Given the description of an element on the screen output the (x, y) to click on. 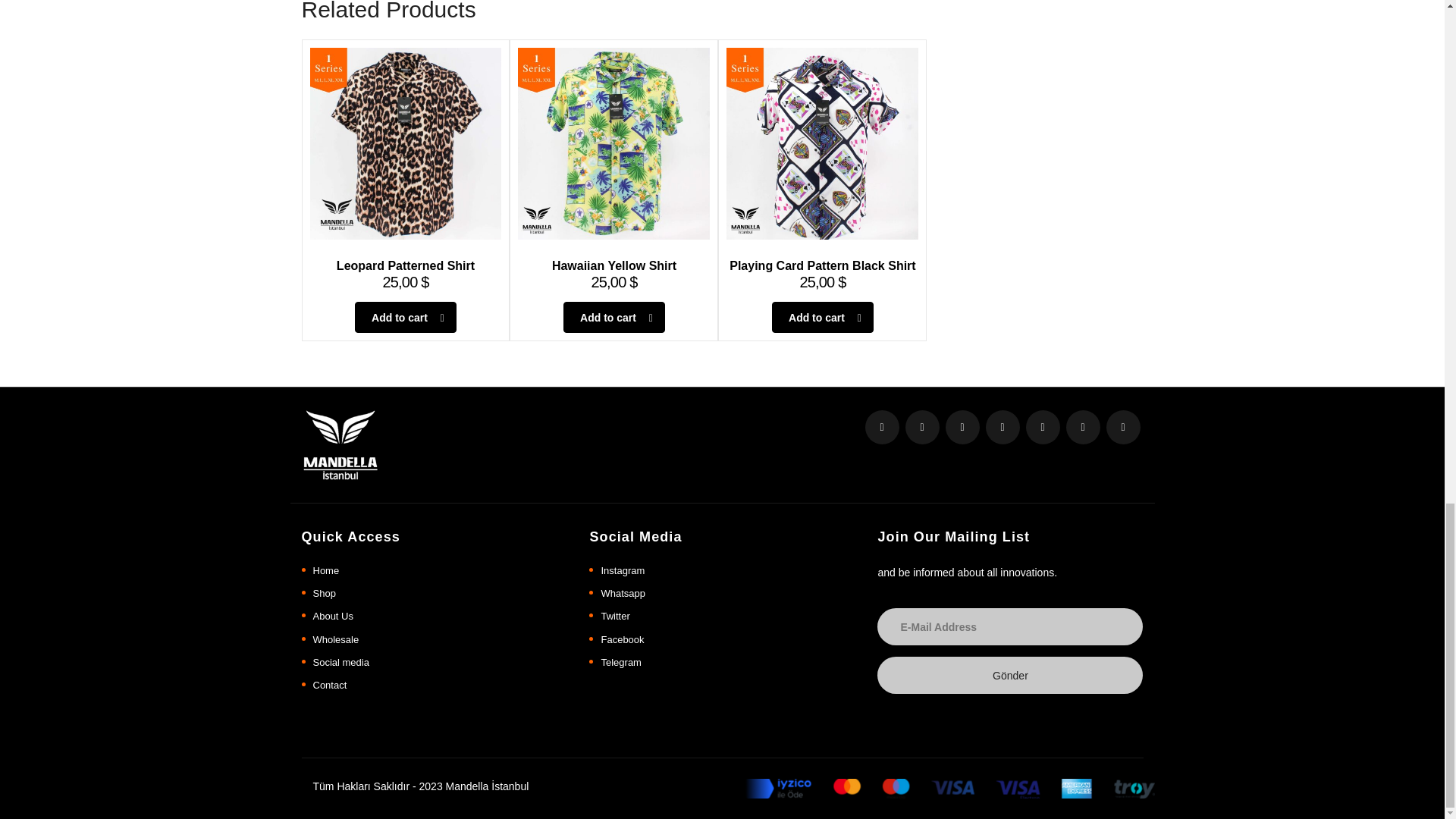
Add to cart (614, 317)
Add to cart (406, 317)
Add to cart (822, 317)
